Given the description of an element on the screen output the (x, y) to click on. 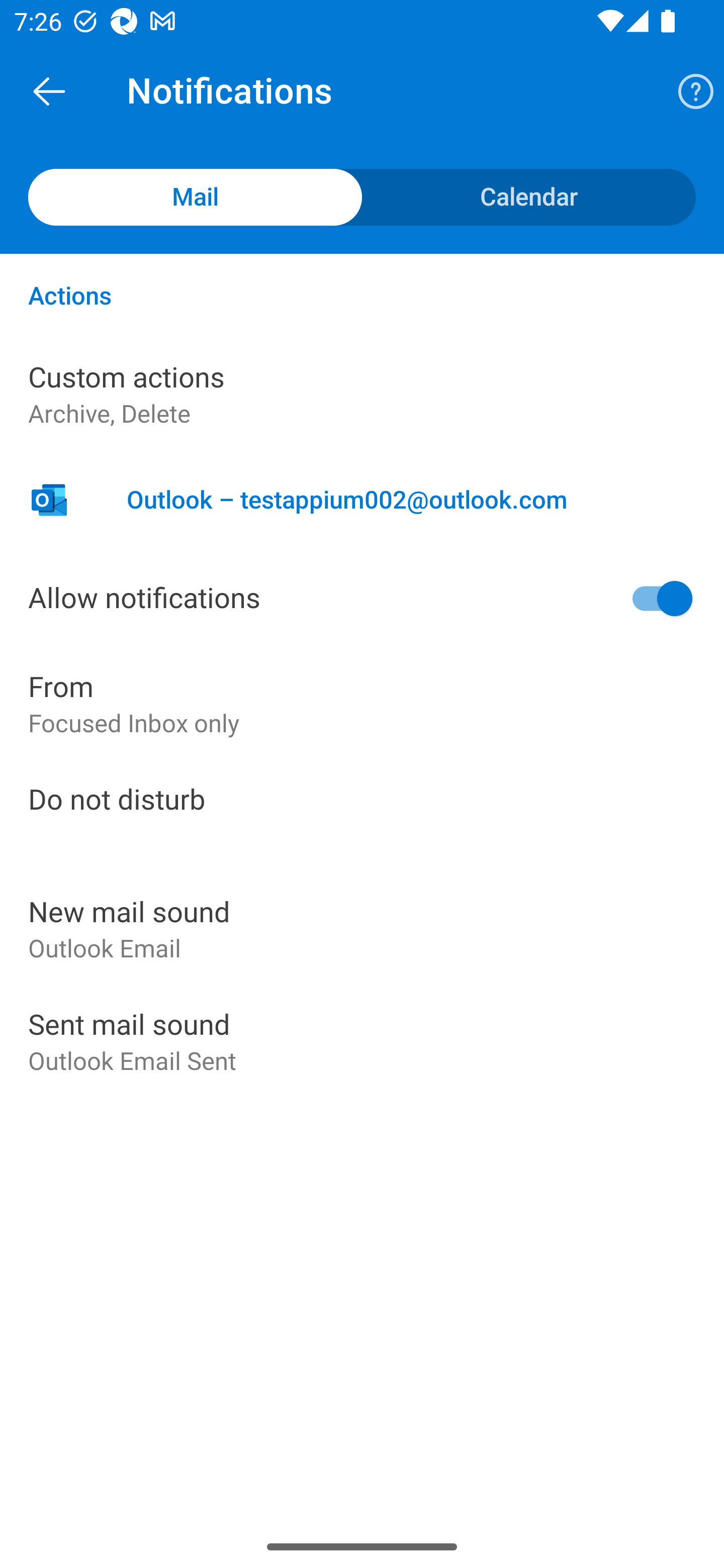
Back (49, 90)
Help (688, 90)
Calendar (528, 197)
Custom actions Archive, Delete (362, 394)
Sent mail sound Outlook Email Sent (362, 1041)
